Given the description of an element on the screen output the (x, y) to click on. 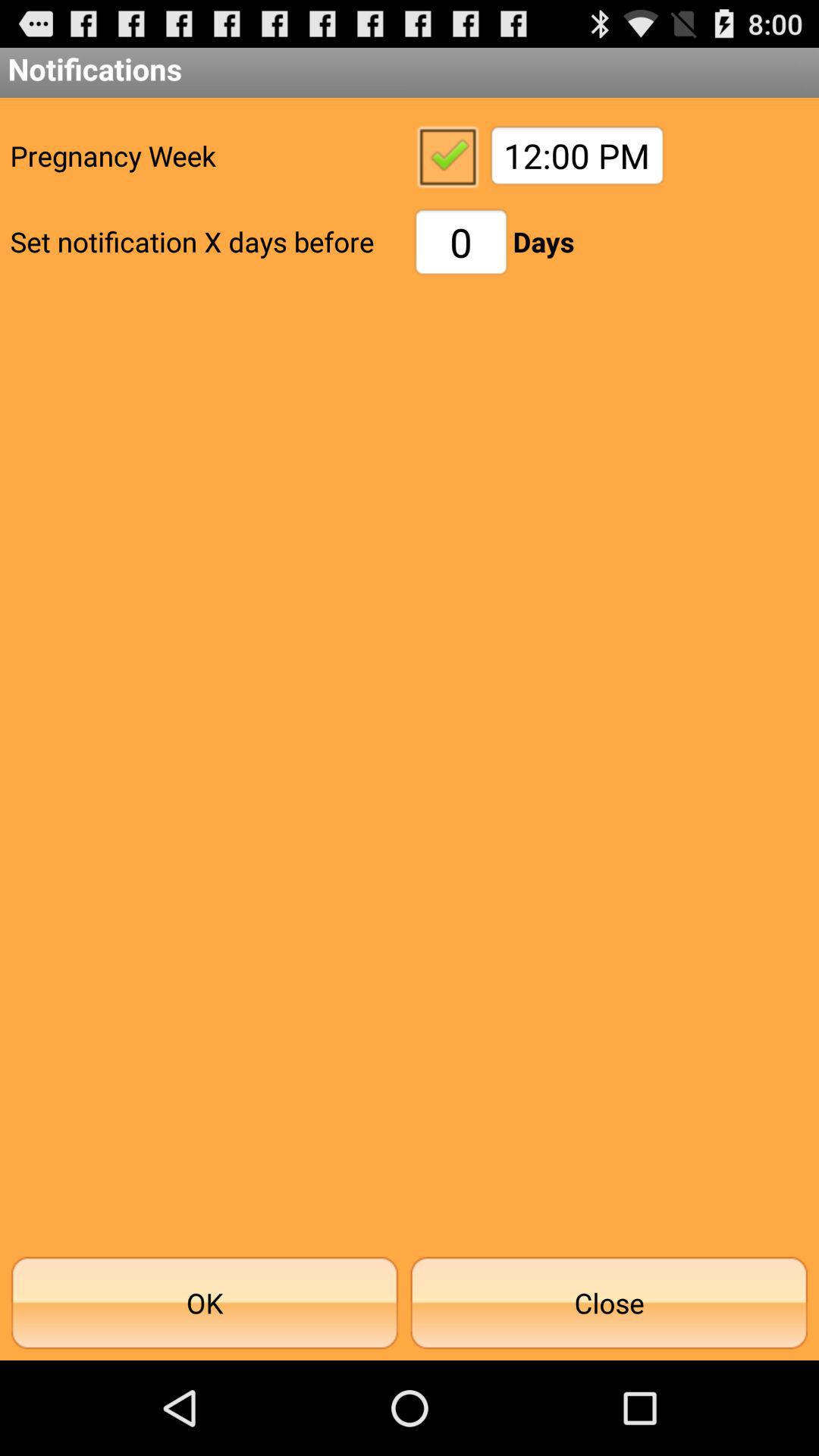
choose icon below the set notification x icon (204, 1302)
